Given the description of an element on the screen output the (x, y) to click on. 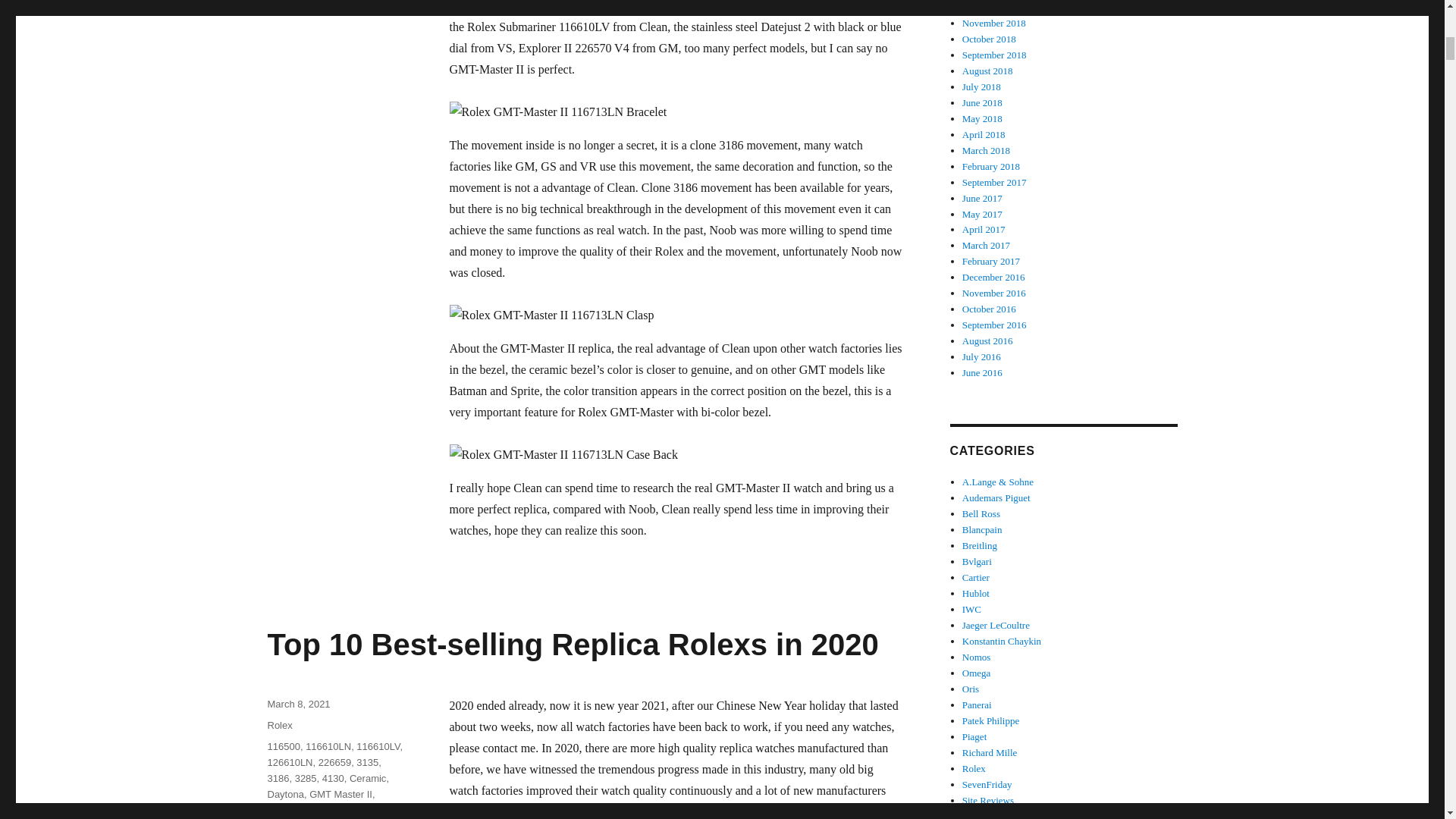
Rolex (309, 809)
4130 (332, 778)
GMT Master II (340, 794)
Daytona (284, 794)
Noob (277, 809)
126610LN (289, 762)
116610LN (327, 746)
3285 (306, 778)
Sky-Dweller (352, 809)
3135 (367, 762)
